Given the description of an element on the screen output the (x, y) to click on. 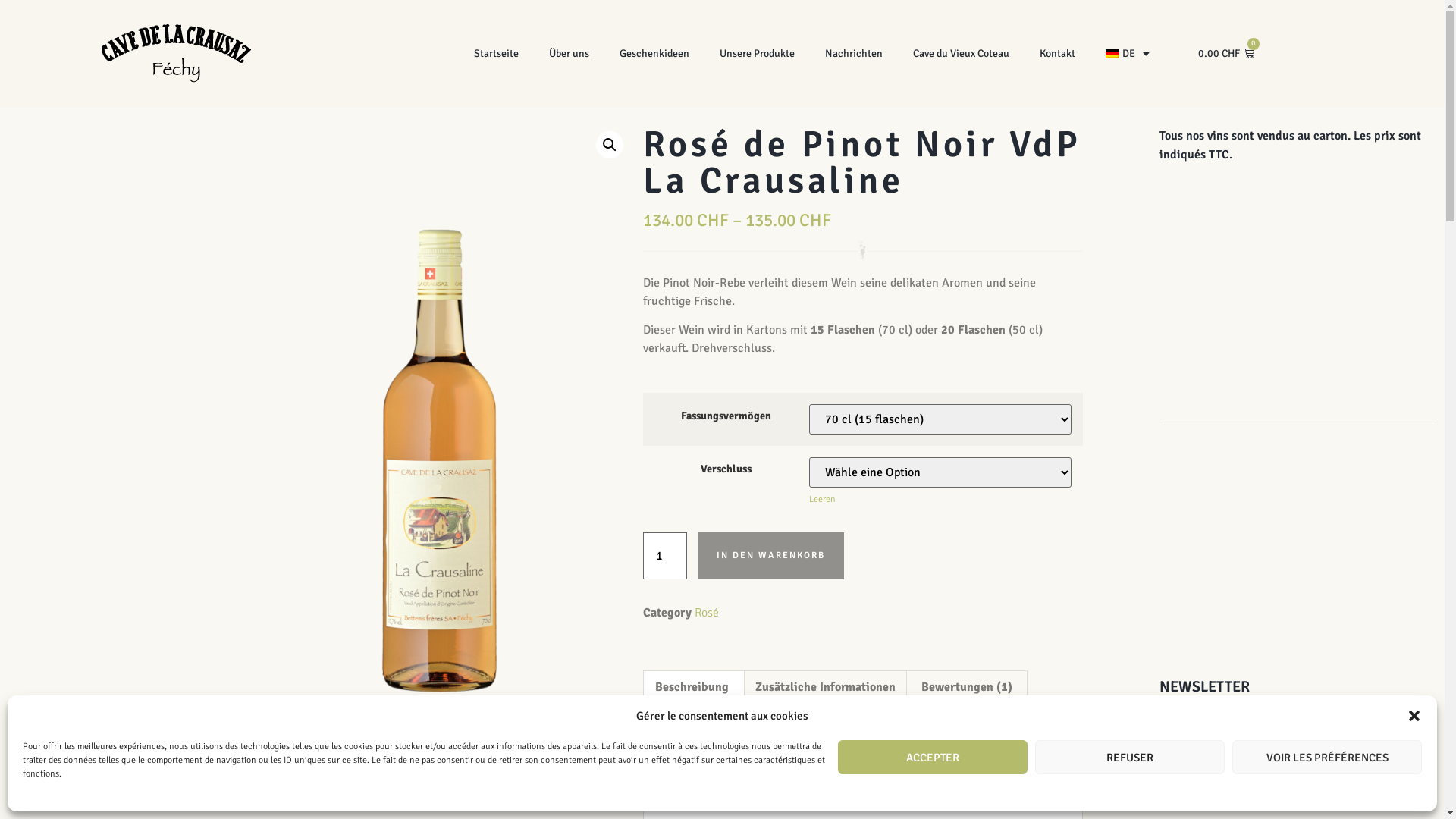
ACCEPTER Element type: text (932, 757)
Leeren Element type: text (822, 498)
Bewertungen (1) Element type: text (966, 686)
REFUSER Element type: text (1129, 757)
Unsere Produkte Element type: text (756, 53)
Kontakt Element type: text (1057, 53)
Startseite Element type: text (495, 53)
rose-de-pinot-noir-la-crausaline-aoc-vaud Element type: hover (438, 405)
Geschenkideen Element type: text (654, 53)
Cave du Vieux Coteau Element type: text (960, 53)
Beschreibung Element type: text (691, 686)
DE Element type: text (1127, 53)
0.00 CHF
0 Element type: text (1225, 53)
Nachrichten Element type: text (853, 53)
IN DEN WARENKORB Element type: text (770, 555)
